Given the description of an element on the screen output the (x, y) to click on. 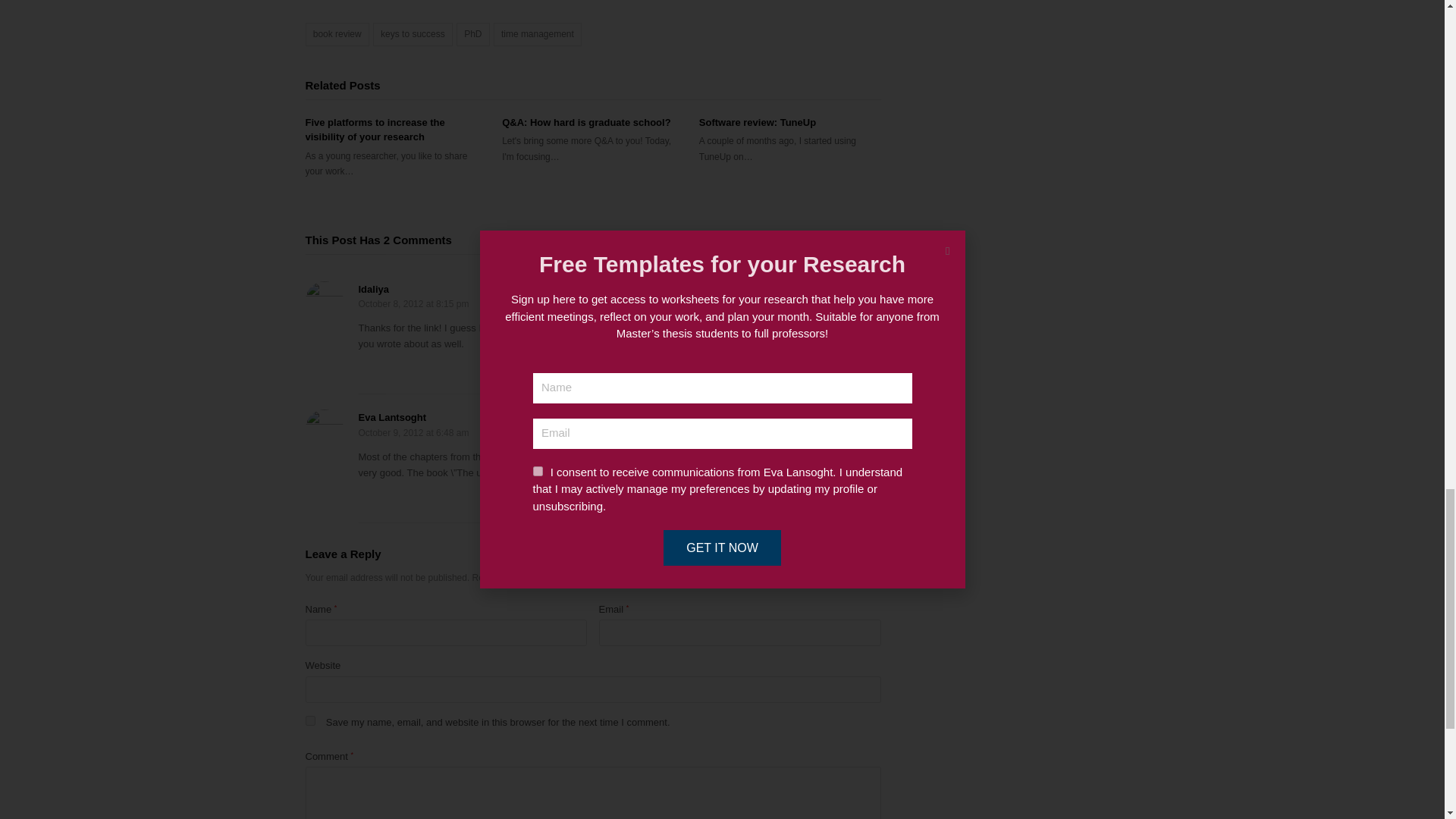
yes (309, 720)
